Given the description of an element on the screen output the (x, y) to click on. 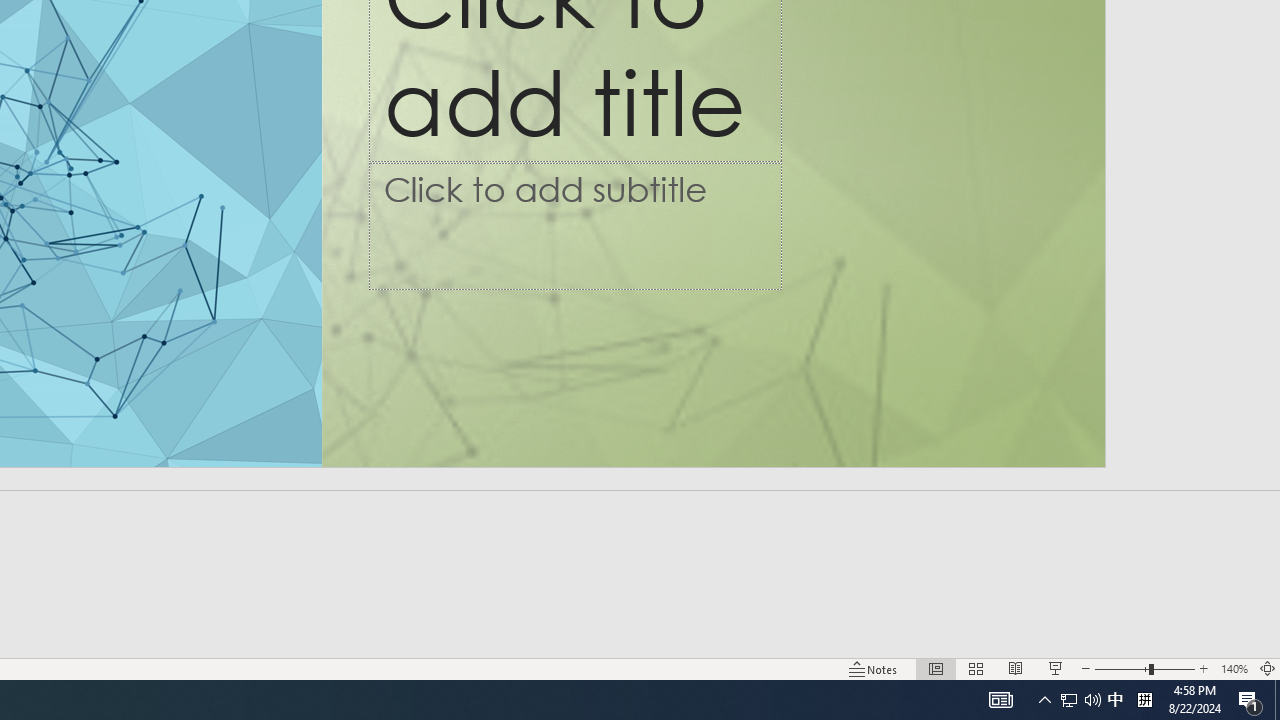
Zoom 140% (1234, 668)
